Given the description of an element on the screen output the (x, y) to click on. 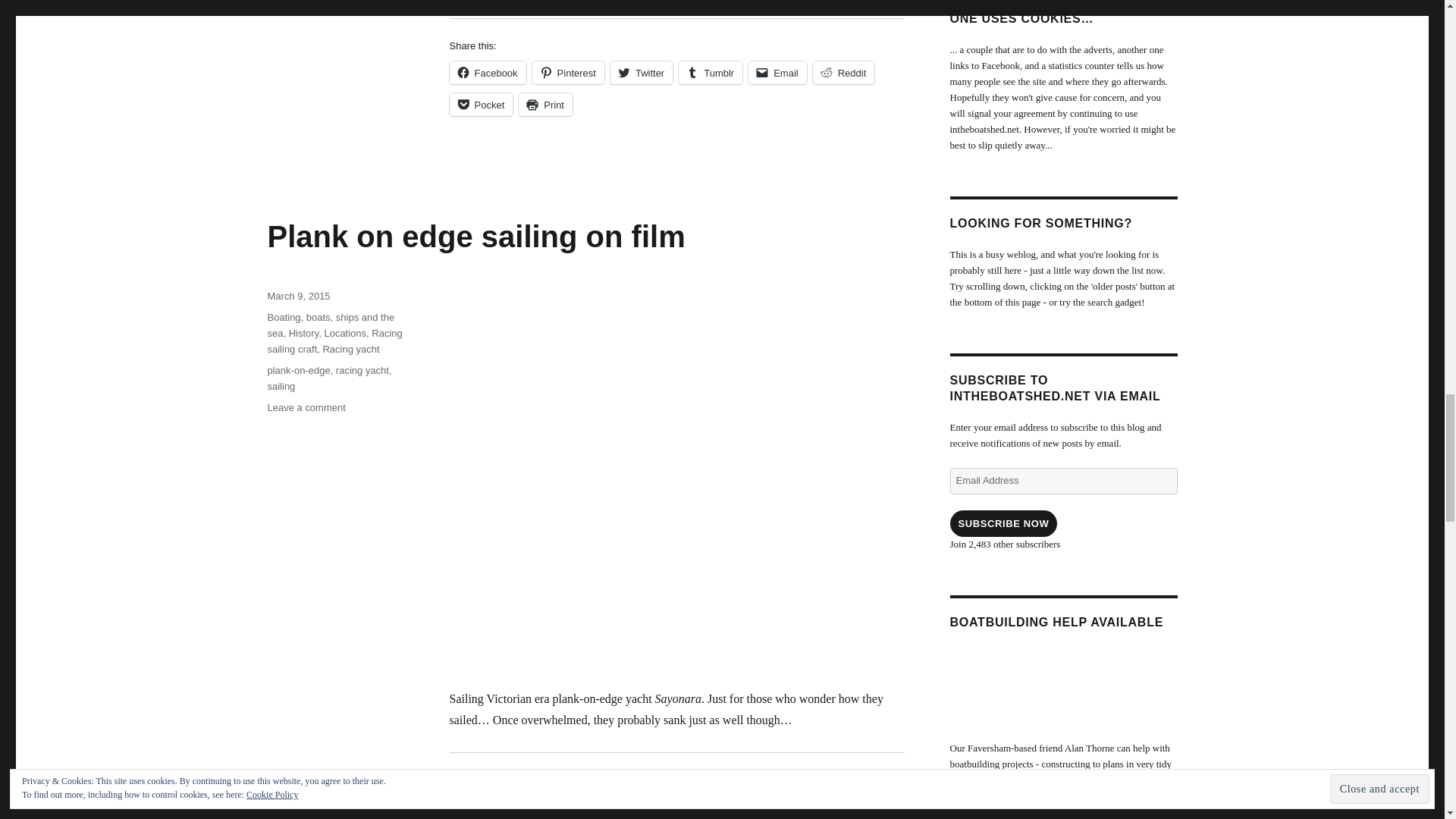
Facebook (486, 72)
